Given the description of an element on the screen output the (x, y) to click on. 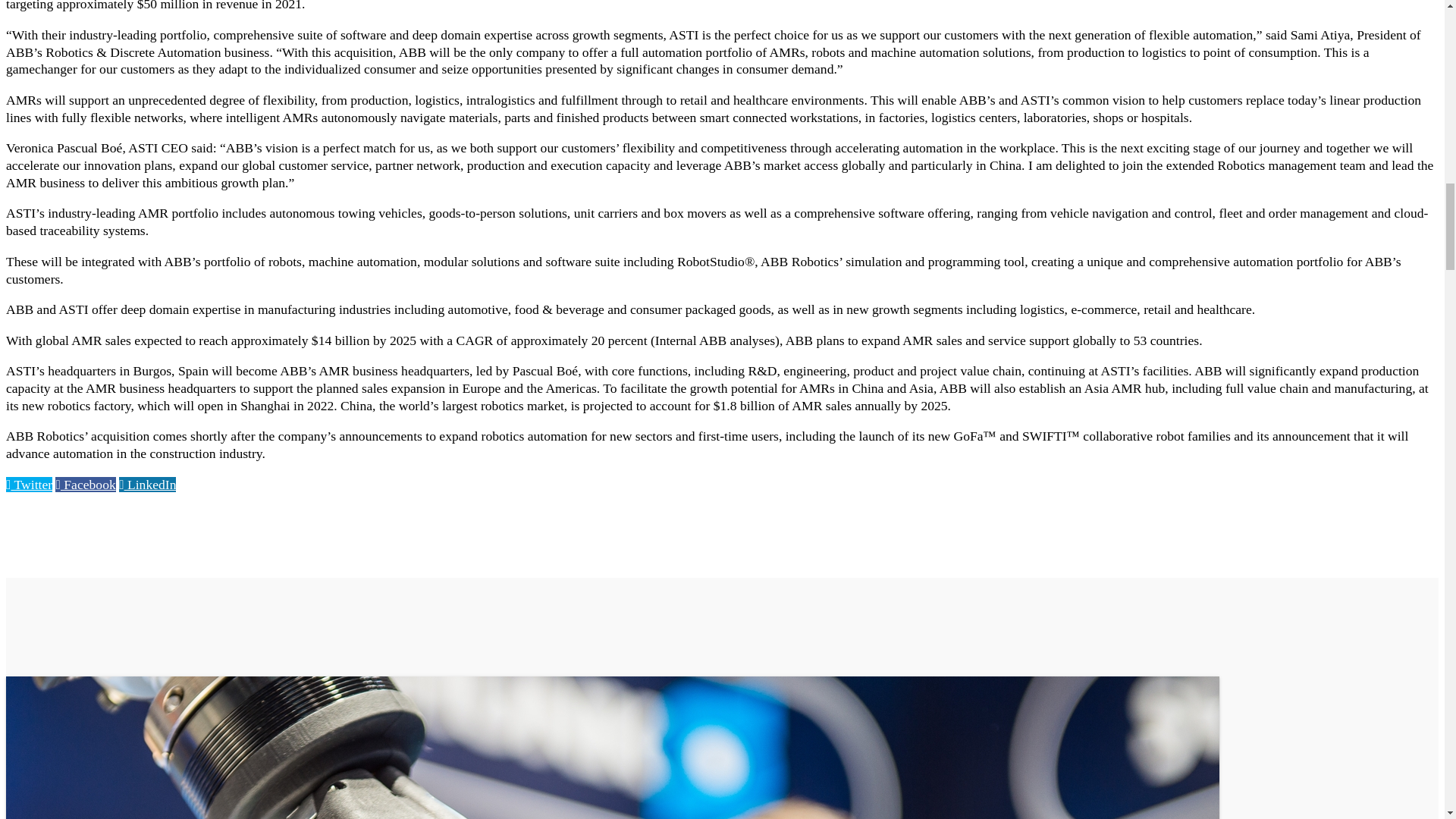
Share on LinkedIn (147, 484)
Share on Twitter (28, 484)
Share on Facebook (85, 484)
